Given the description of an element on the screen output the (x, y) to click on. 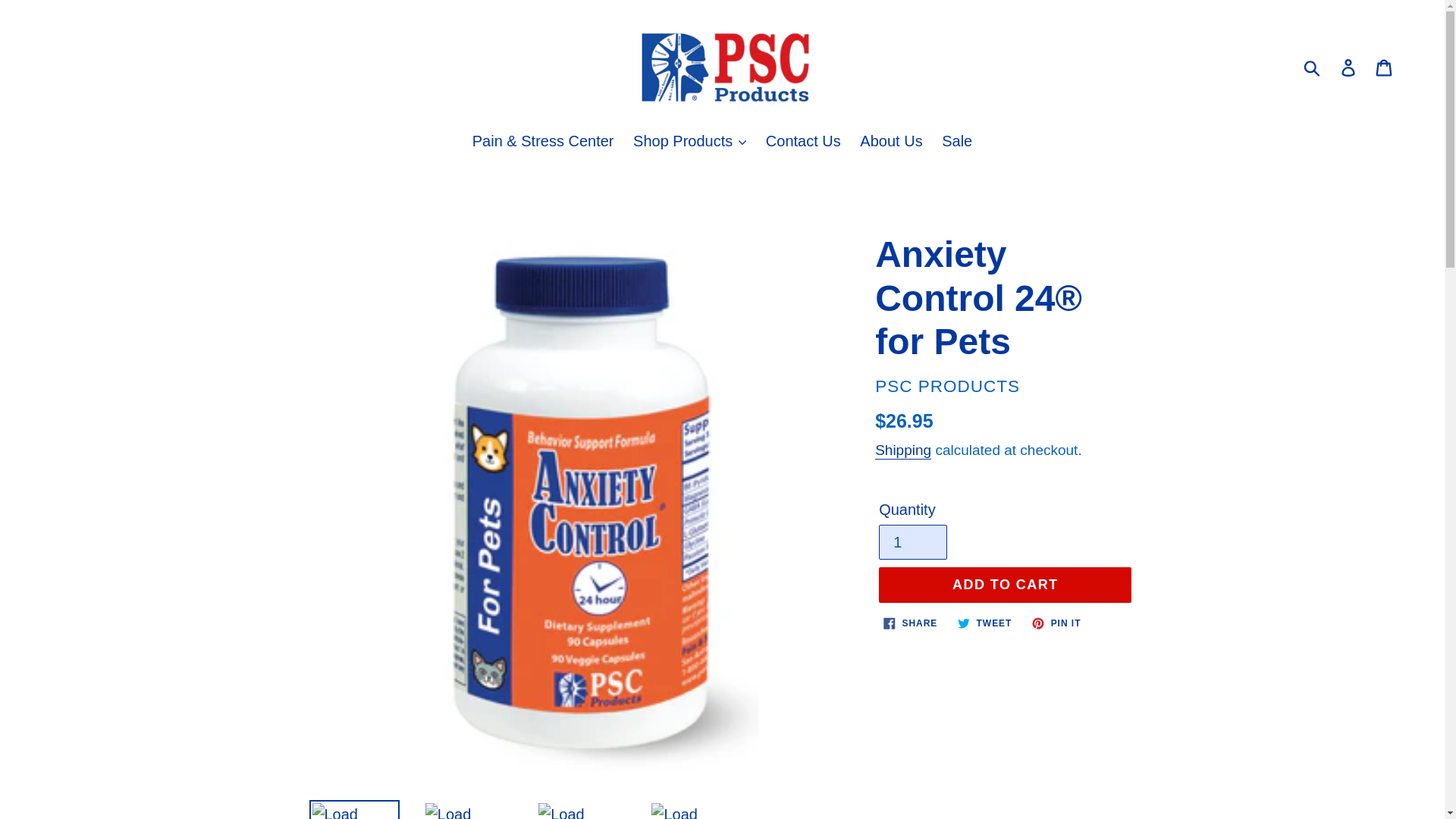
Log in (1349, 66)
1 (913, 541)
Cart (1385, 66)
Submit (1313, 66)
